Given the description of an element on the screen output the (x, y) to click on. 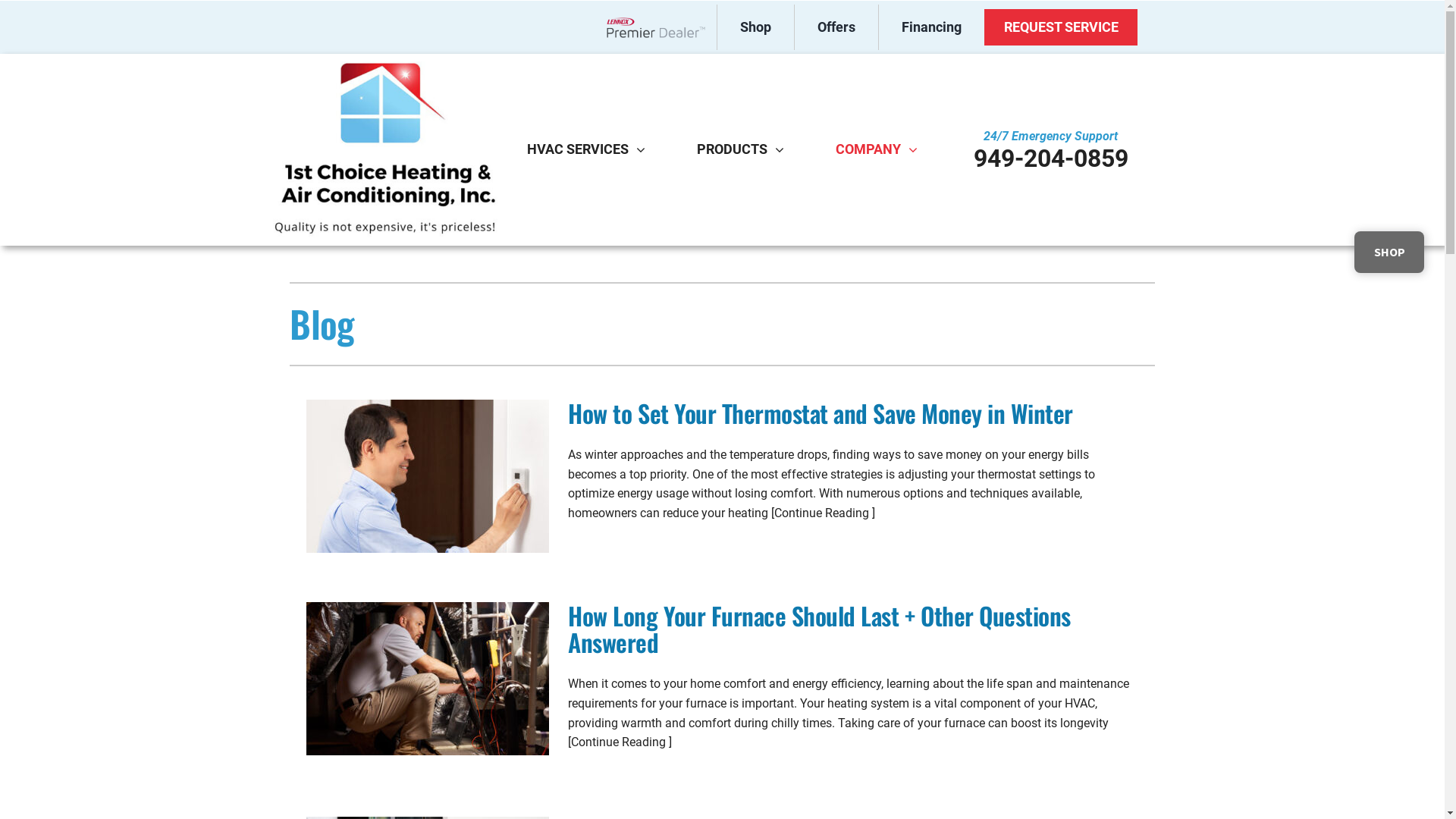
REQUEST SERVICE Element type: text (1060, 27)
949-204-0859 Element type: text (1050, 158)
Shop Element type: text (754, 27)
Financing Element type: text (931, 27)
PRODUCTS Element type: text (732, 149)
How to Set Your Thermostat and Save Money in Winter Element type: text (820, 412)
Offers Element type: text (835, 27)
HVAC SERVICES Element type: text (577, 149)
COMPANY Element type: text (868, 149)
How Long Your Furnace Should Last + Other Questions Answered Element type: text (818, 628)
